Given the description of an element on the screen output the (x, y) to click on. 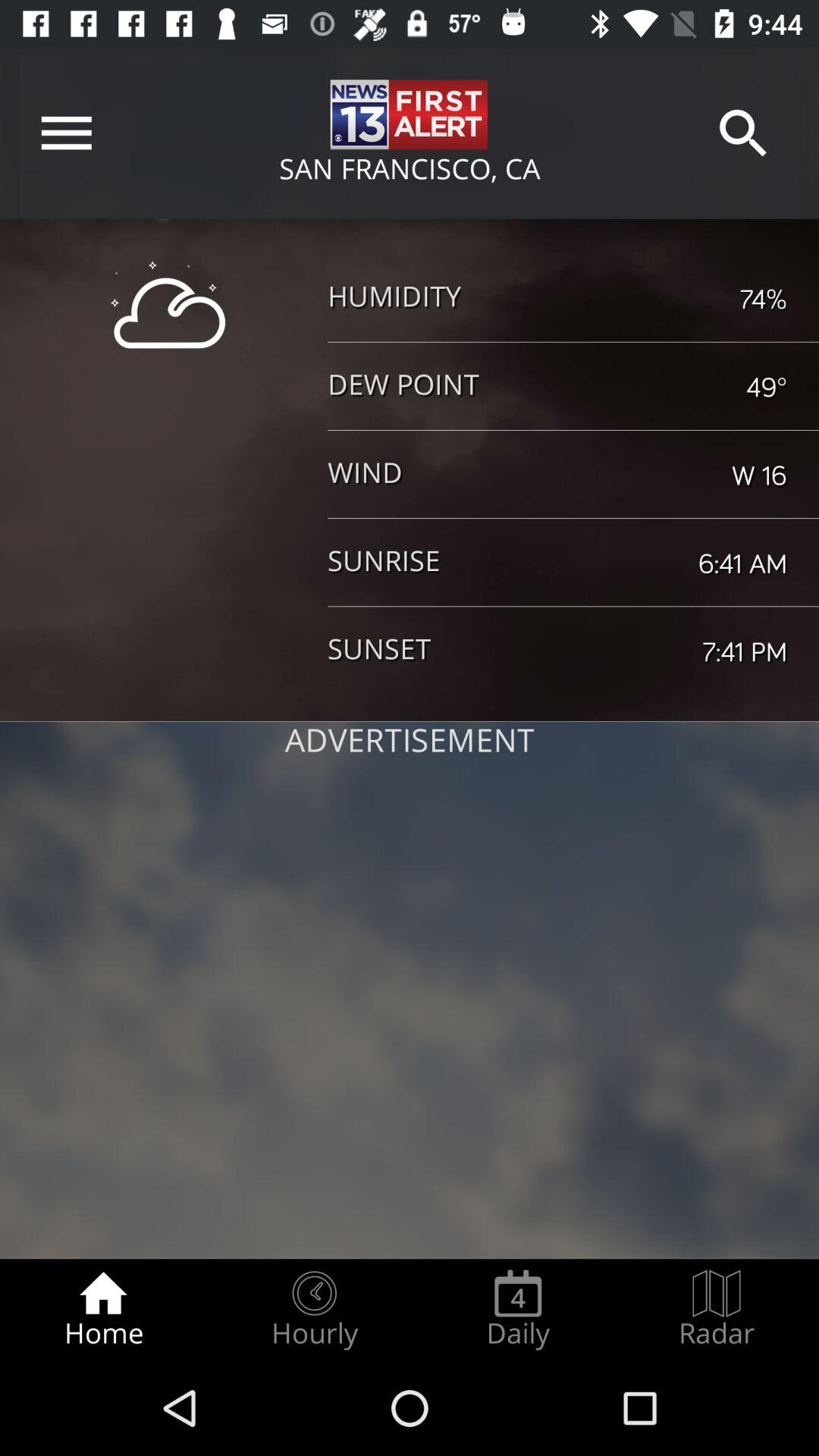
turn off hourly item (314, 1309)
